Given the description of an element on the screen output the (x, y) to click on. 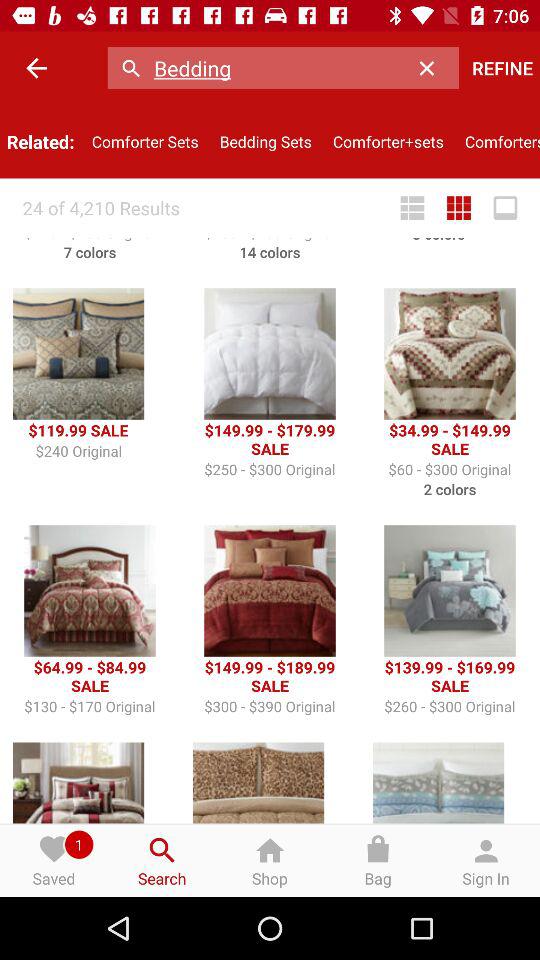
click the item above the 3 colors (412, 208)
